Given the description of an element on the screen output the (x, y) to click on. 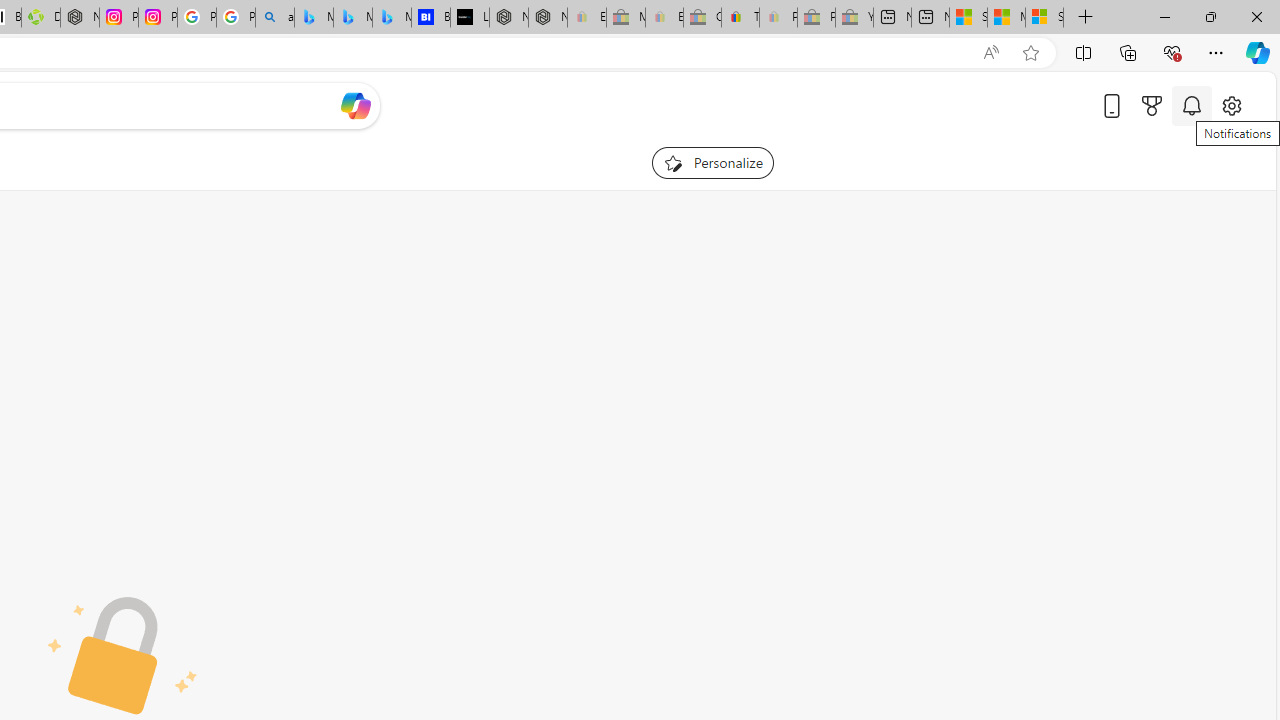
Press Room - eBay Inc. - Sleeping (815, 17)
Private profile picture (123, 656)
Shanghai, China hourly forecast | Microsoft Weather (967, 17)
Payments Terms of Use | eBay.com - Sleeping (778, 17)
